Given the description of an element on the screen output the (x, y) to click on. 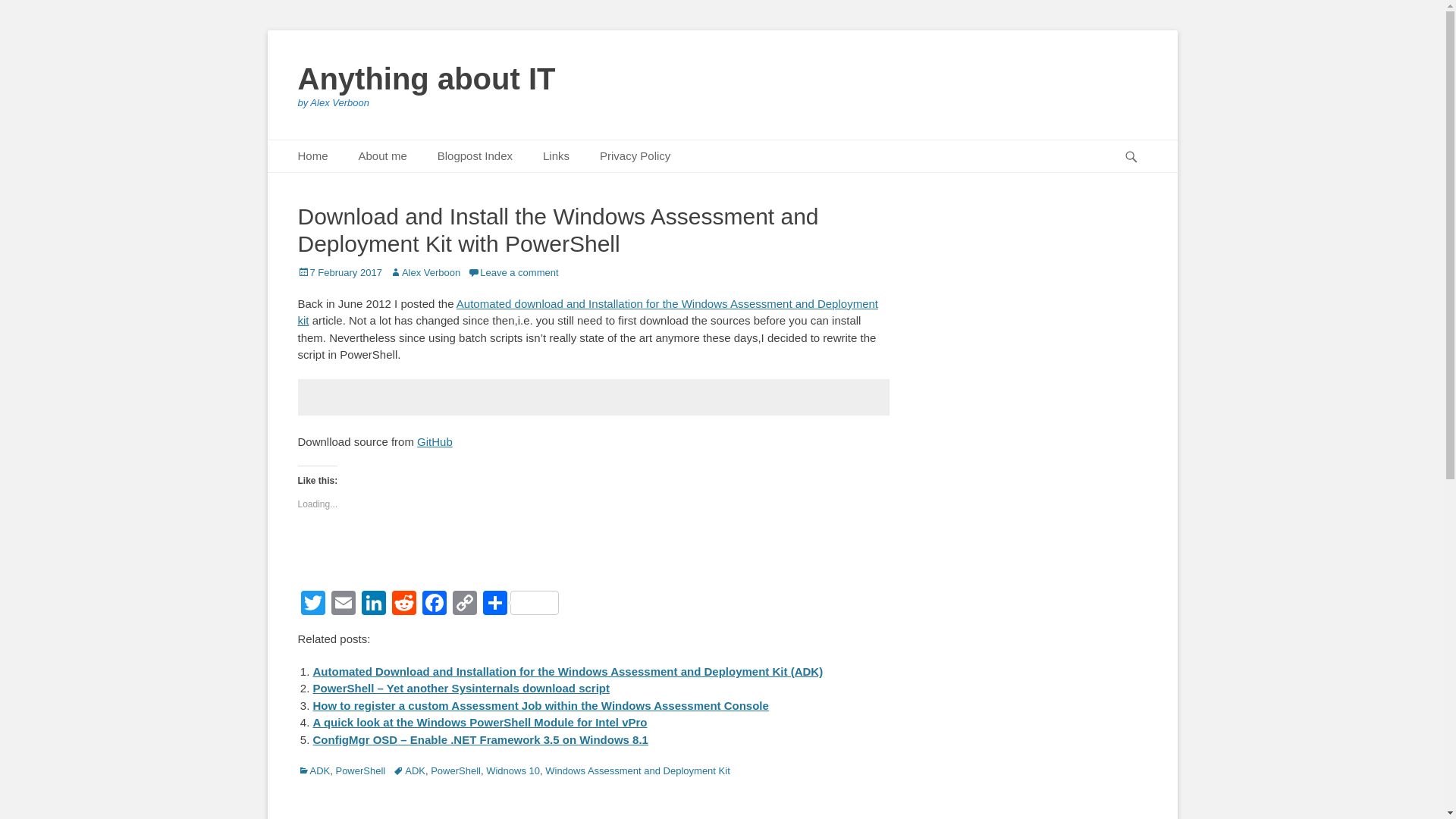
Email (342, 604)
Copy Link (463, 604)
Reddit (403, 604)
Home (312, 156)
ADK (313, 770)
A quick look at the Windows PowerShell Module for Intel vPro (479, 721)
Leave a comment (512, 272)
Download and Install ADK (592, 397)
Blogpost Index (474, 156)
About me (382, 156)
Twitter (312, 604)
